Given the description of an element on the screen output the (x, y) to click on. 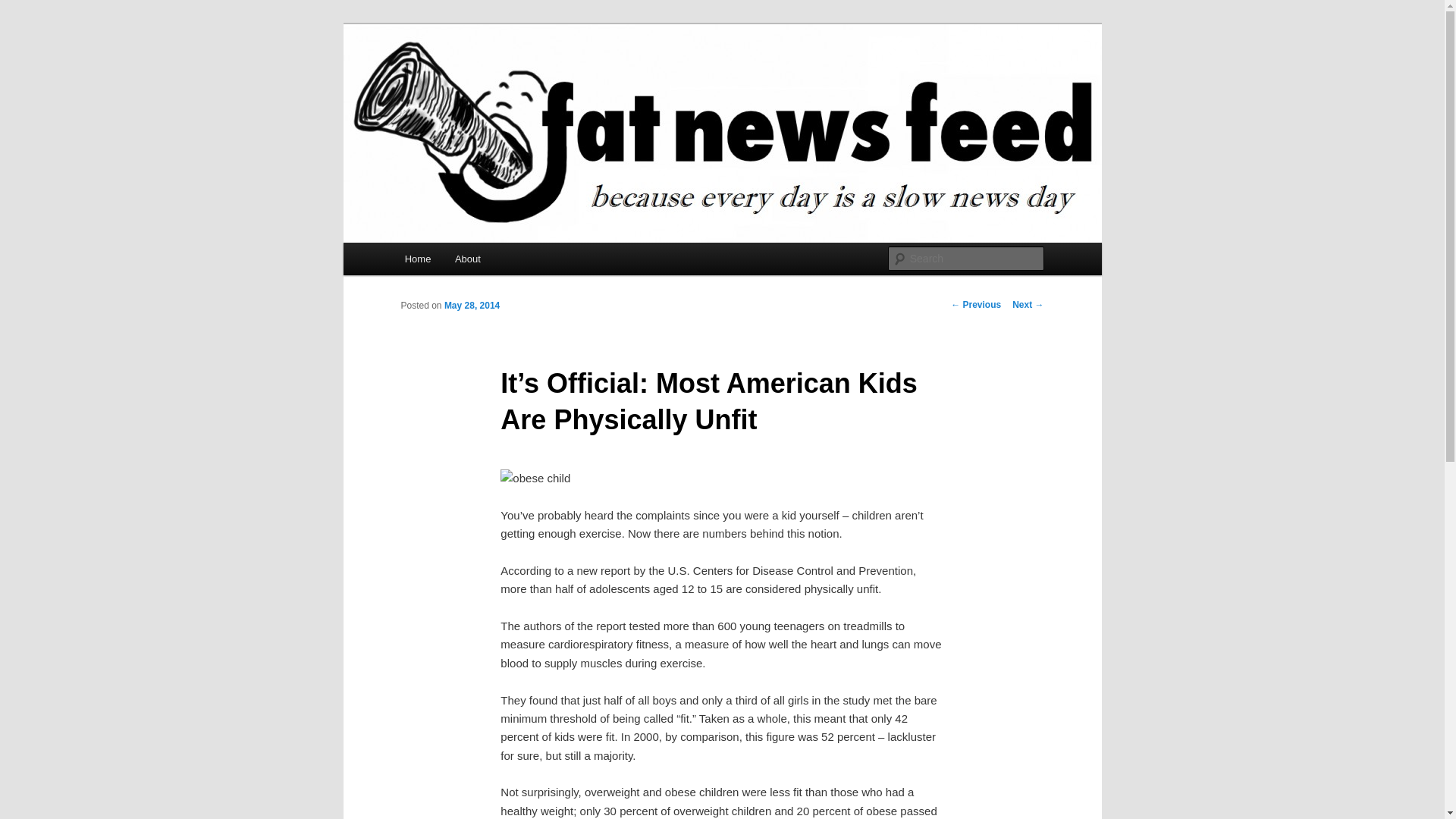
May 28, 2014 (471, 305)
About (467, 258)
Fat News Feed (479, 78)
11:20 pm (471, 305)
Home (417, 258)
Search (24, 8)
